Given the description of an element on the screen output the (x, y) to click on. 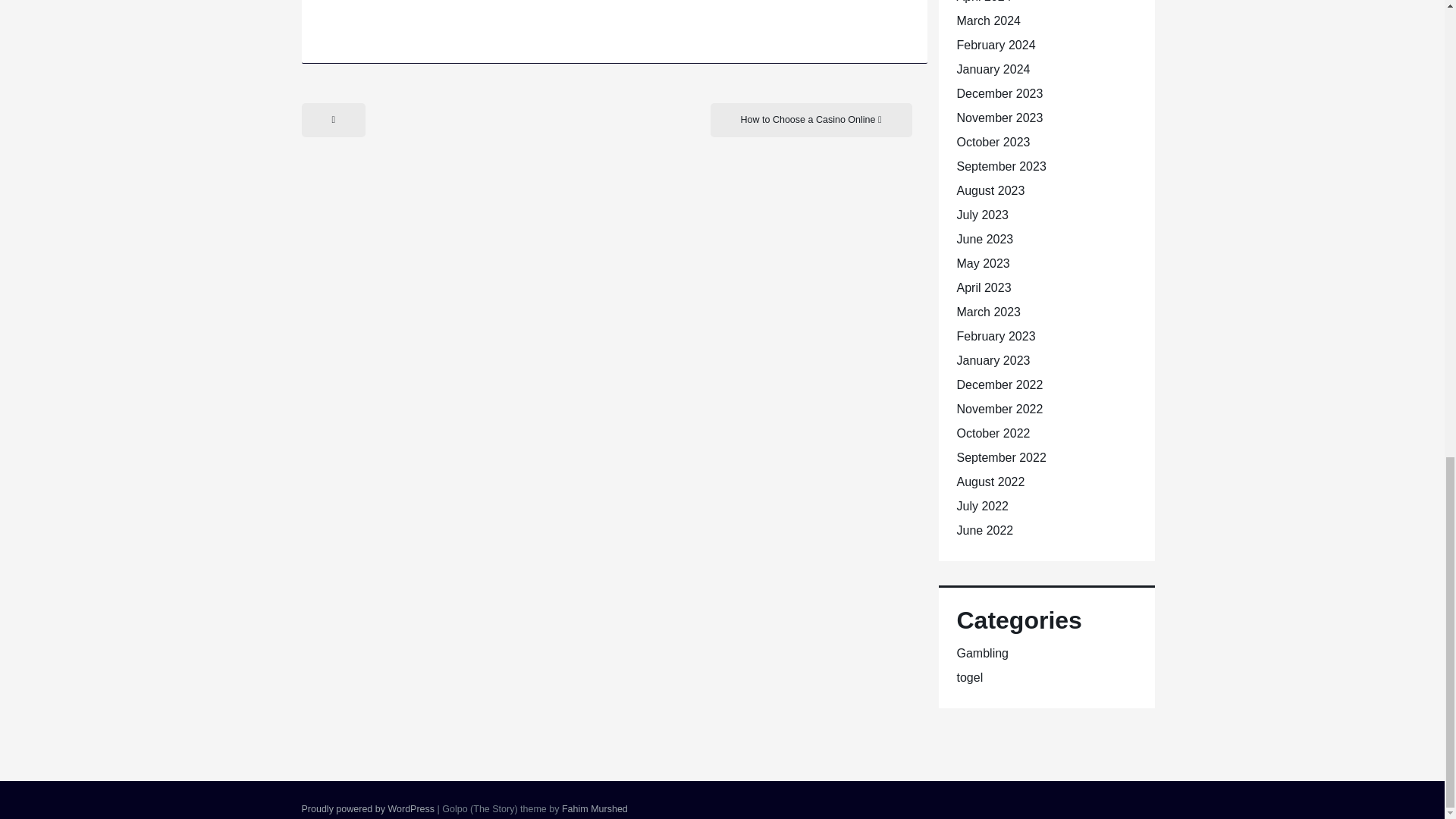
April 2023 (983, 287)
July 2023 (982, 214)
December 2022 (999, 384)
November 2022 (999, 408)
December 2023 (999, 92)
April 2024 (983, 1)
March 2023 (989, 311)
March 2024 (989, 20)
February 2024 (995, 44)
August 2023 (990, 190)
